Given the description of an element on the screen output the (x, y) to click on. 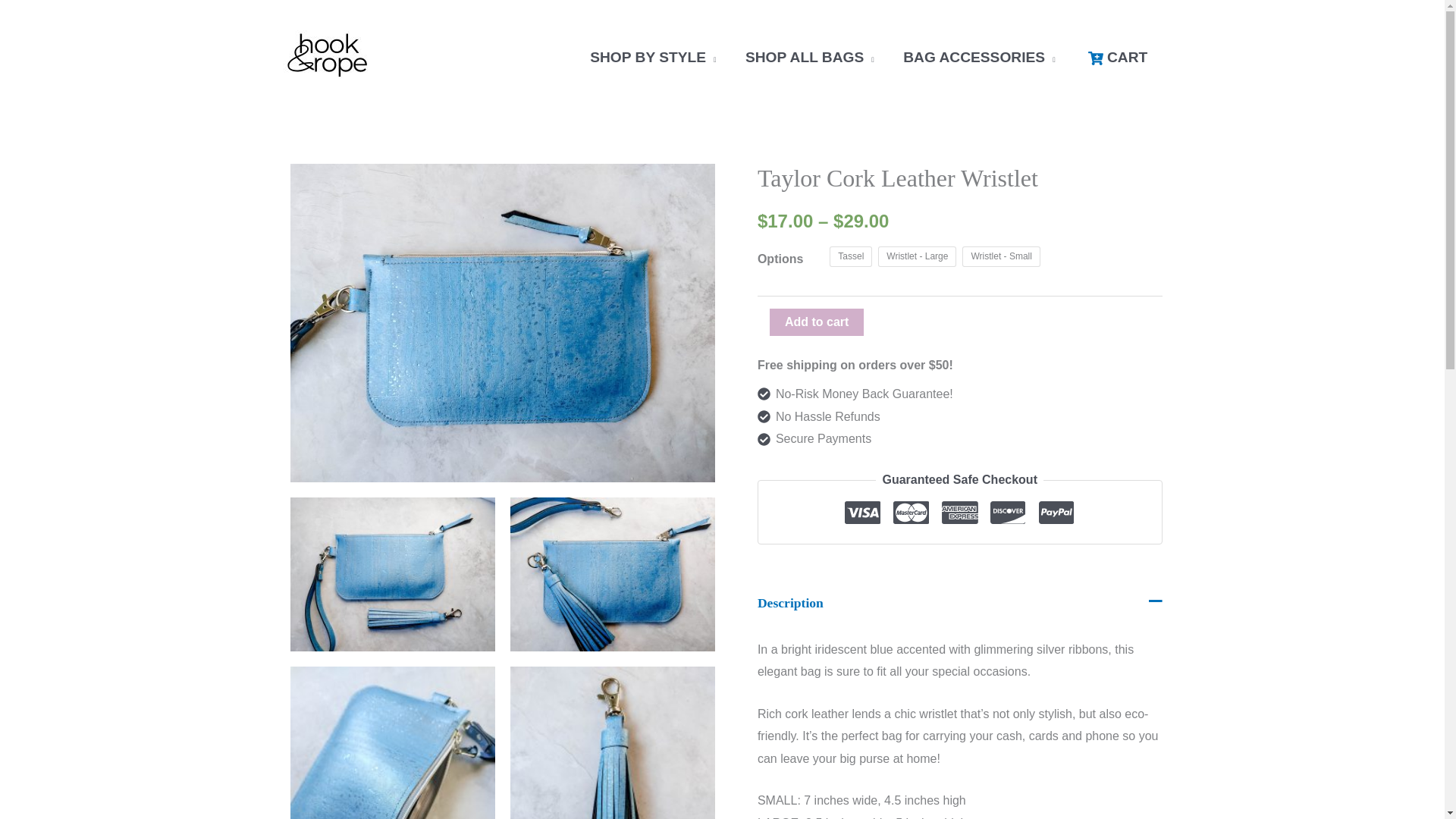
BAG ACCESSORIES (979, 57)
SHOP ALL BAGS (809, 57)
CART (1115, 57)
SHOP BY STYLE (652, 57)
Add to cart (816, 321)
